Given the description of an element on the screen output the (x, y) to click on. 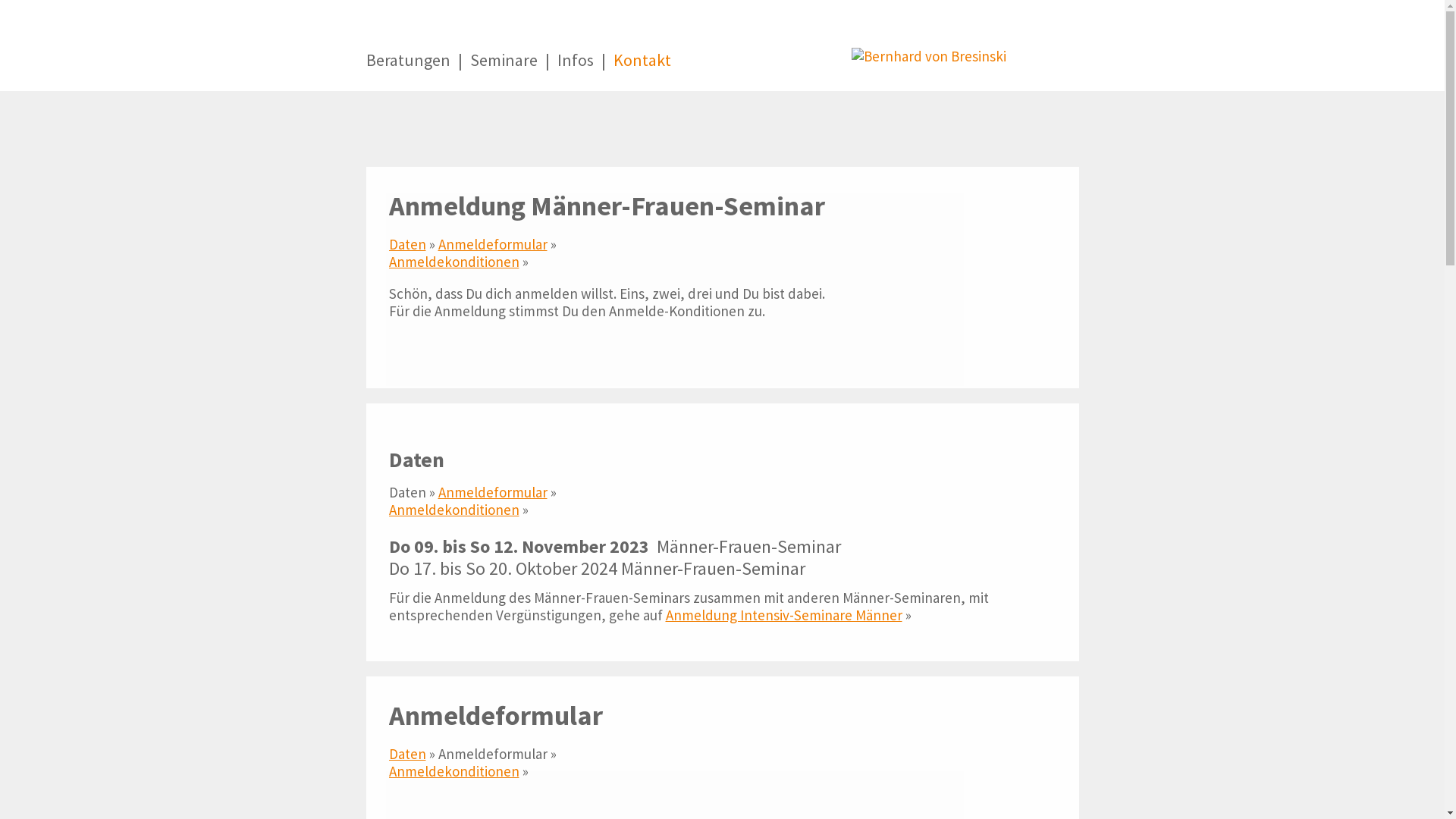
Seminare Element type: text (503, 69)
Anmeldekonditionen Element type: text (453, 261)
Anmeldekonditionen Element type: text (453, 509)
Infos Element type: text (574, 69)
Daten Element type: text (406, 753)
Beratungen Element type: text (407, 69)
Anmeldekonditionen Element type: text (453, 771)
Anmeldeformular Element type: text (492, 244)
Daten Element type: text (406, 244)
Anmeldeformular Element type: text (492, 492)
Kontakt Element type: text (641, 69)
